Given the description of an element on the screen output the (x, y) to click on. 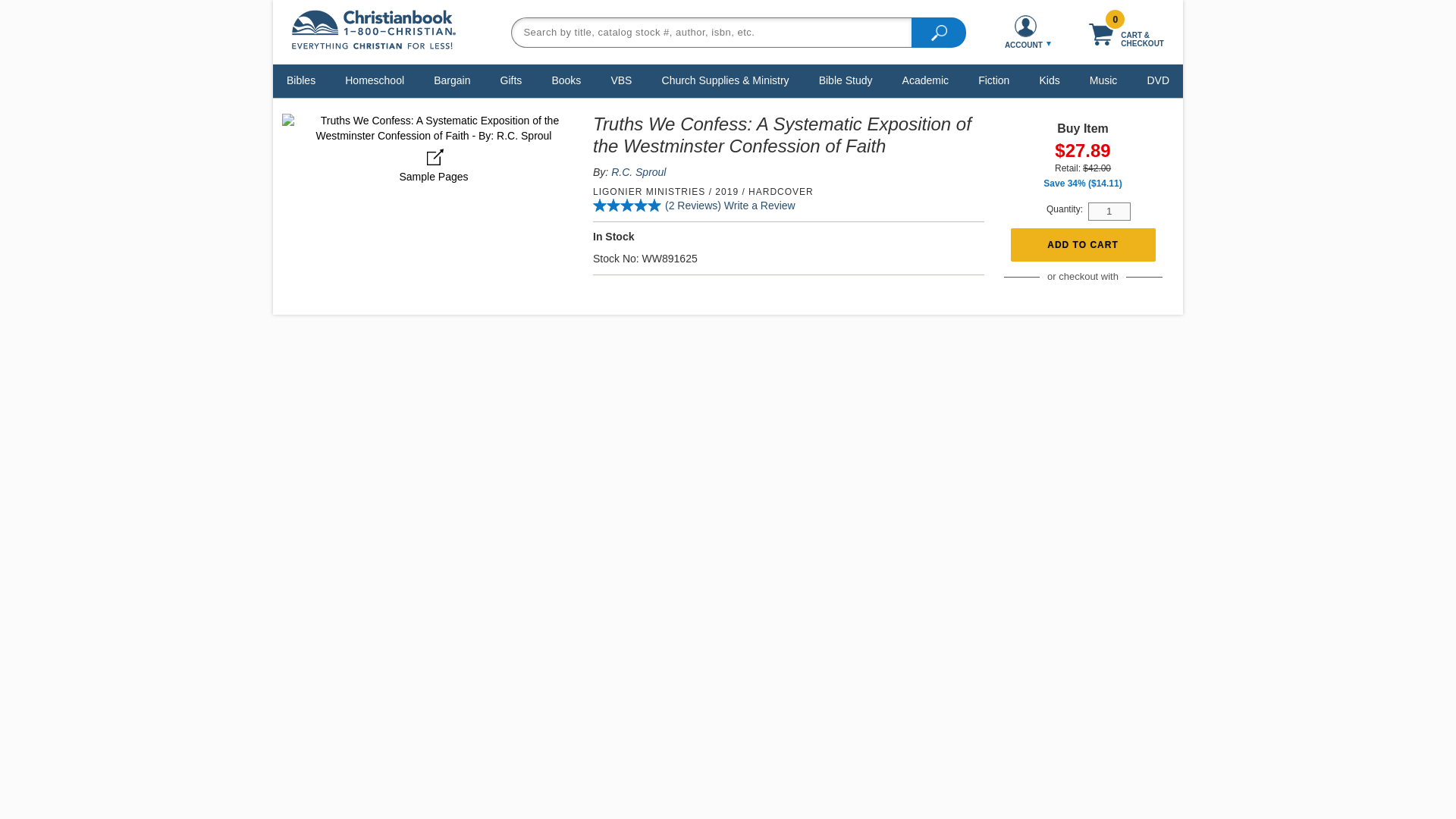
Books (566, 79)
Place in Bookbag (1082, 245)
R.C. Sproul (638, 172)
Bible Study (845, 79)
Academic (924, 79)
ACCOUNT (1025, 32)
DVD (1157, 79)
Kids (1048, 79)
Bibles (300, 79)
Fiction (993, 79)
SEARCH (938, 31)
Homeschool (374, 79)
Write a Review (758, 205)
Gifts (511, 79)
VBS (621, 79)
